Given the description of an element on the screen output the (x, y) to click on. 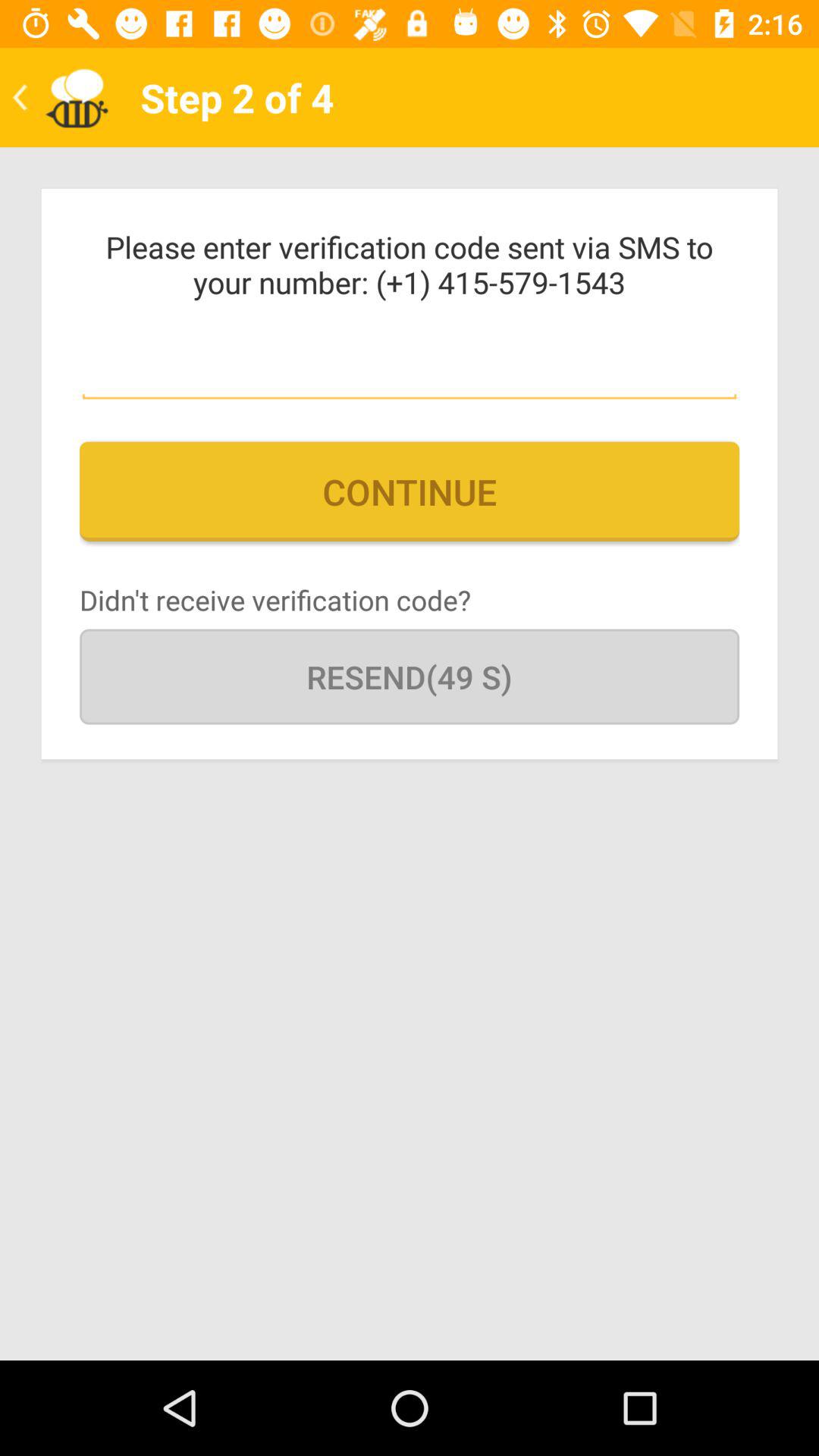
jump until the resend(49 s) icon (409, 676)
